Given the description of an element on the screen output the (x, y) to click on. 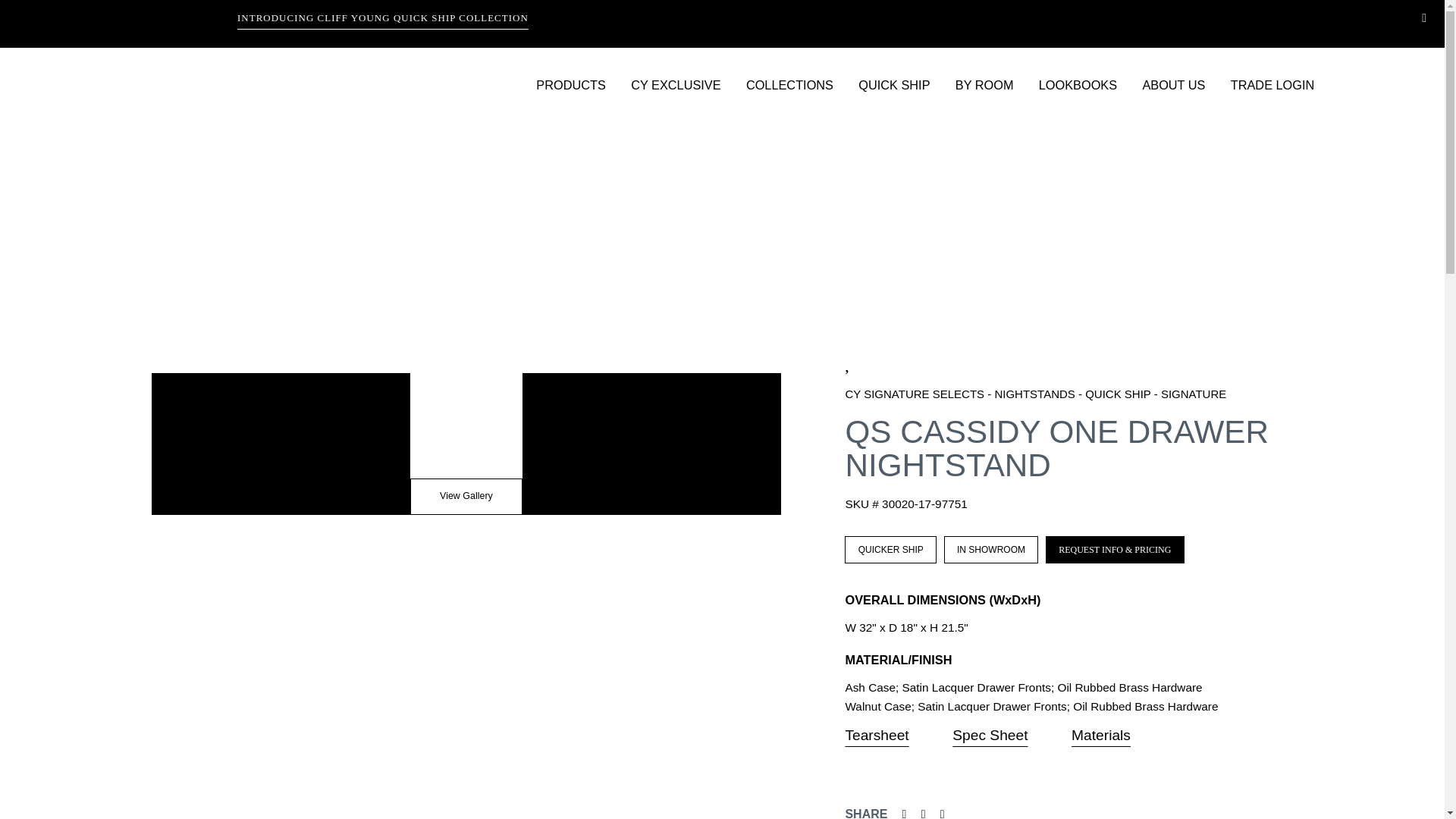
PRODUCTS (581, 91)
QS Cassidy One Drawer Nightstand (1115, 549)
INTRODUCING CLIFF YOUNG QUICK SHIP COLLECTION (187, 20)
